Given the description of an element on the screen output the (x, y) to click on. 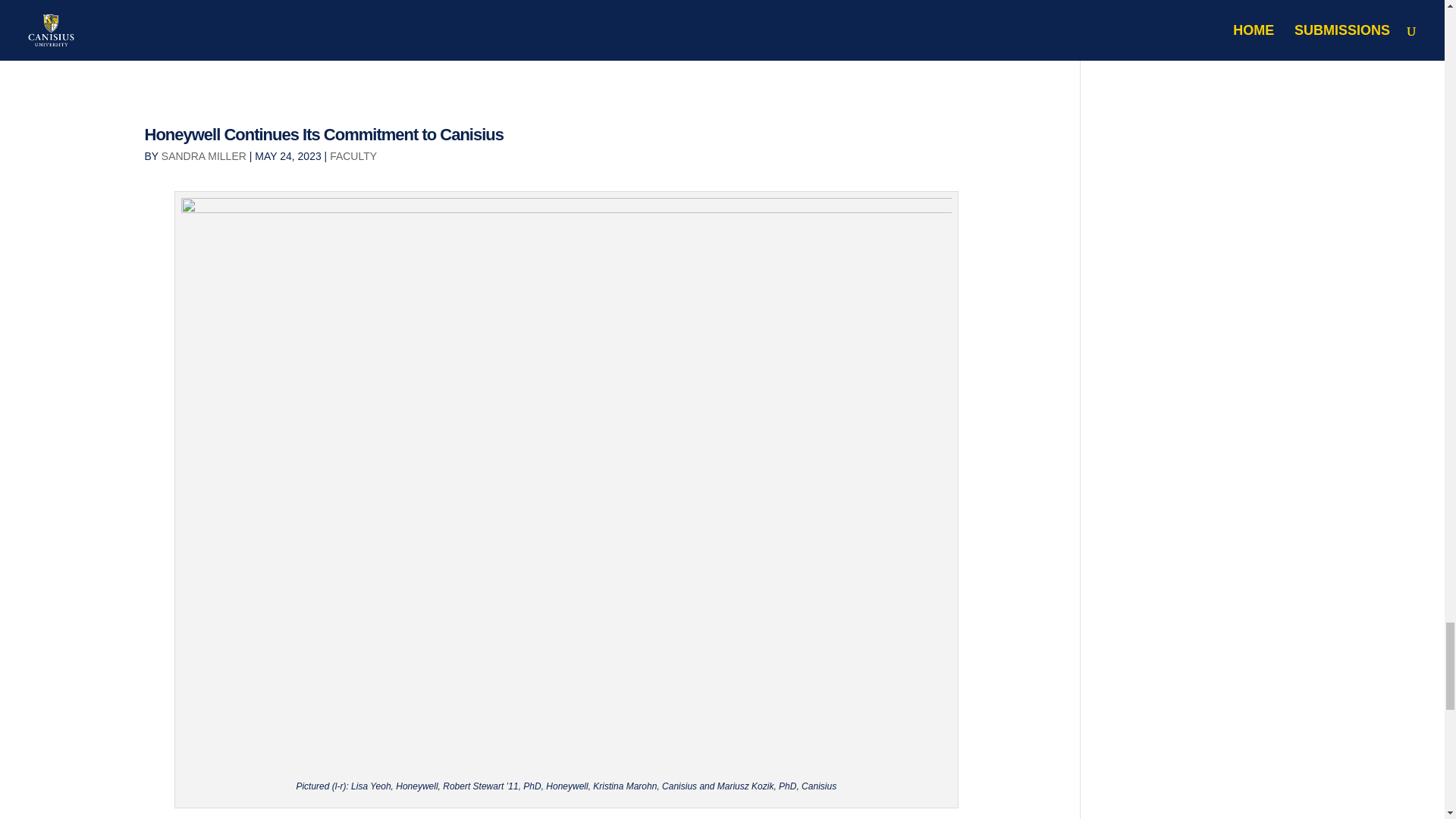
Click here (174, 3)
FACULTY (353, 155)
Posts by Sandra Miller (203, 155)
SANDRA MILLER (203, 155)
Honeywell Continues Its Commitment to Canisius (323, 134)
